Given the description of an element on the screen output the (x, y) to click on. 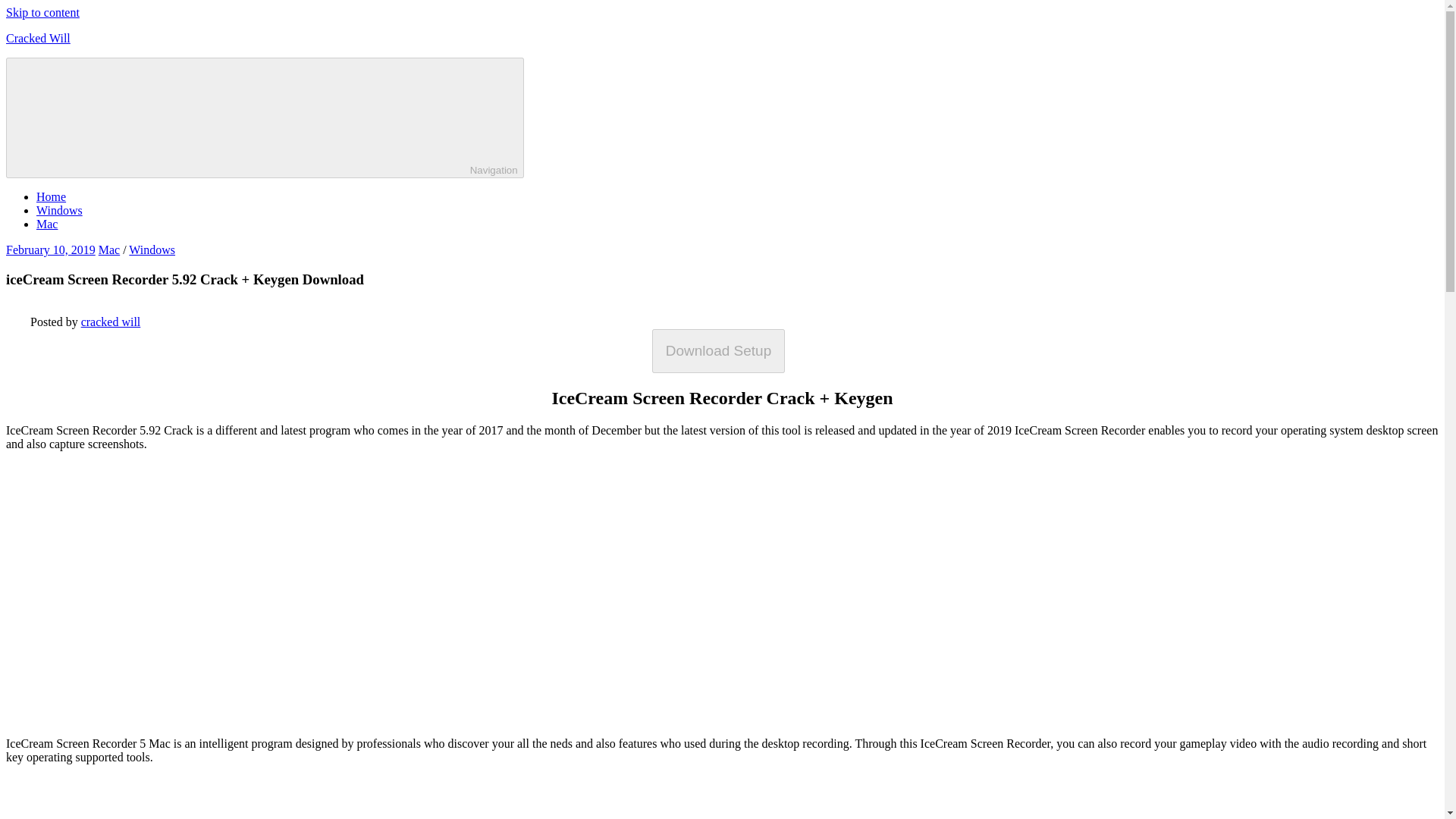
Mac (109, 249)
Windows (59, 210)
Download Setup (718, 351)
February 10, 2019 (50, 249)
12:29 pm (50, 249)
Home (50, 196)
Download Setup (722, 350)
Navigation (264, 117)
Mac (47, 223)
Skip to content (42, 11)
View all posts by cracked will (111, 321)
Cracked Will (37, 38)
cracked will (111, 321)
Windows (151, 249)
